Given the description of an element on the screen output the (x, y) to click on. 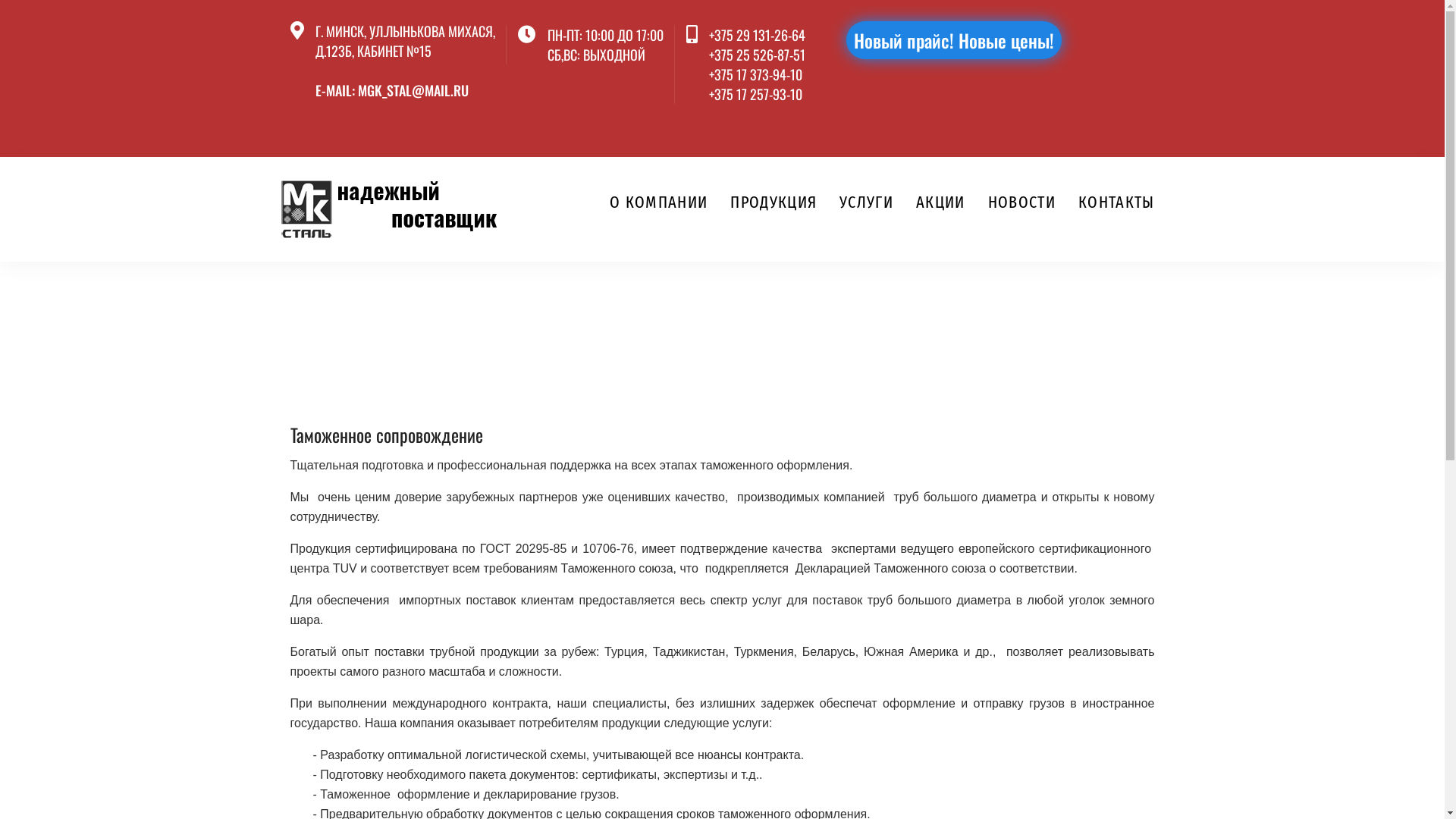
E-MAIL: MGK_STAL@MAIL.RU Element type: text (391, 90)
